Given the description of an element on the screen output the (x, y) to click on. 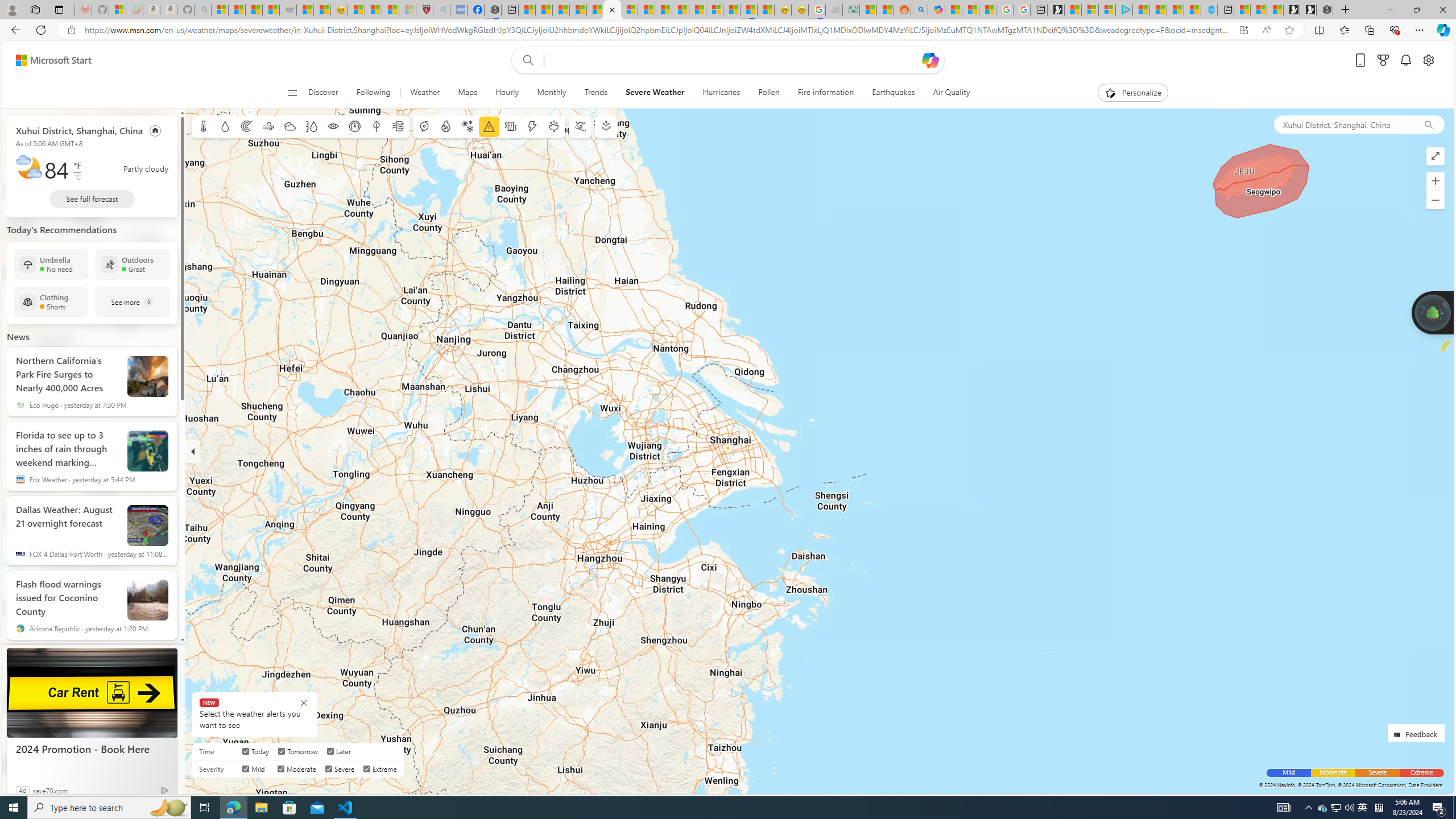
Set as primary location (155, 130)
2024 Promotion - Book Here (92, 692)
Dallas Weather: August 21 overnight forecast (148, 525)
Flash flood warnings issued for Coconino County (148, 599)
Winter weather (467, 126)
Class: BubbleMessageCloseIcon-DS-EntryPoint1-1 (303, 701)
